Given the description of an element on the screen output the (x, y) to click on. 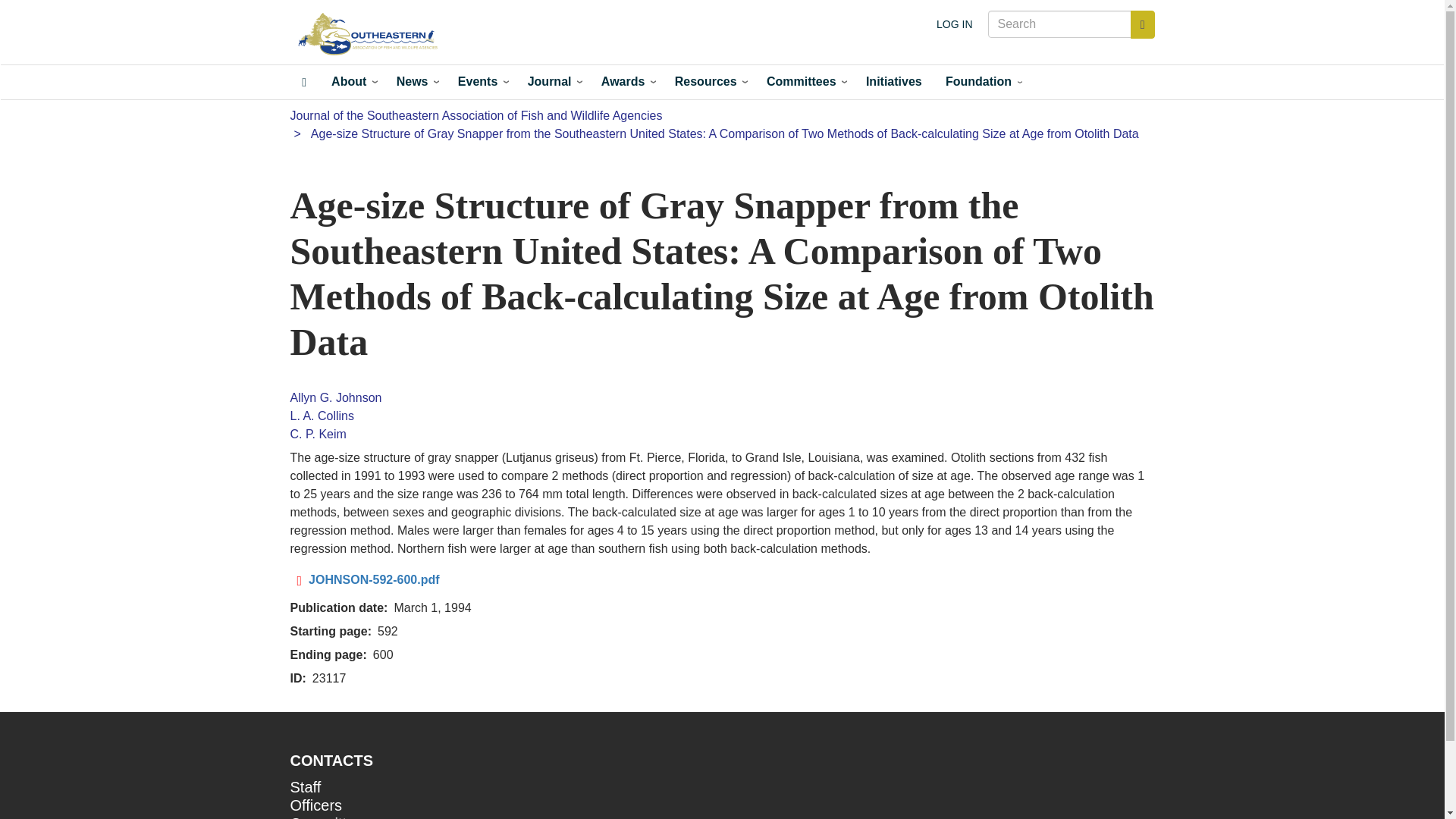
Search (1142, 24)
LOG IN (954, 23)
News (414, 81)
Home (370, 34)
About (351, 81)
Events (480, 81)
Home (303, 82)
